Given the description of an element on the screen output the (x, y) to click on. 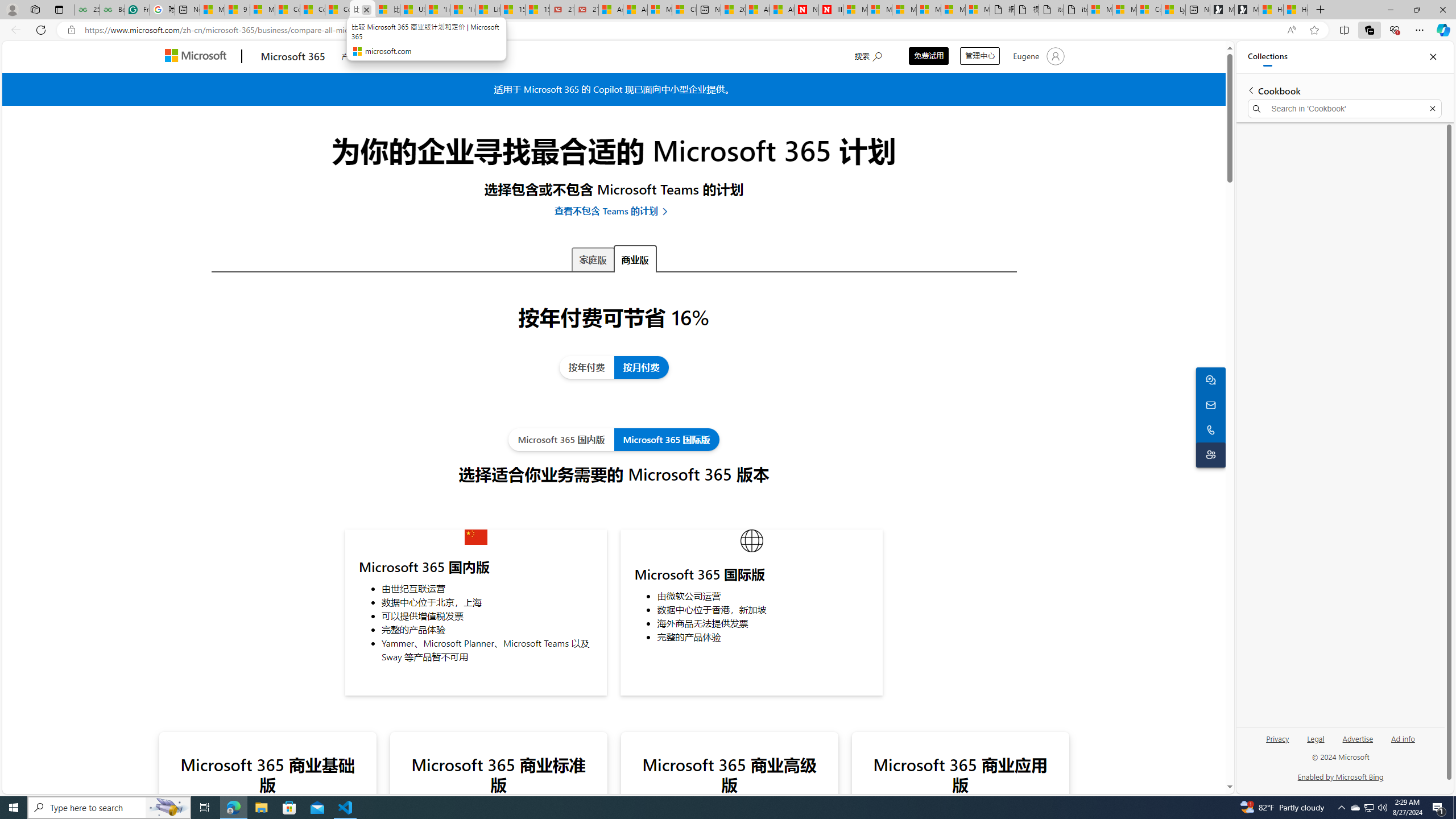
Best SSL Certificates Provider in India - GeeksforGeeks (111, 9)
